Given the description of an element on the screen output the (x, y) to click on. 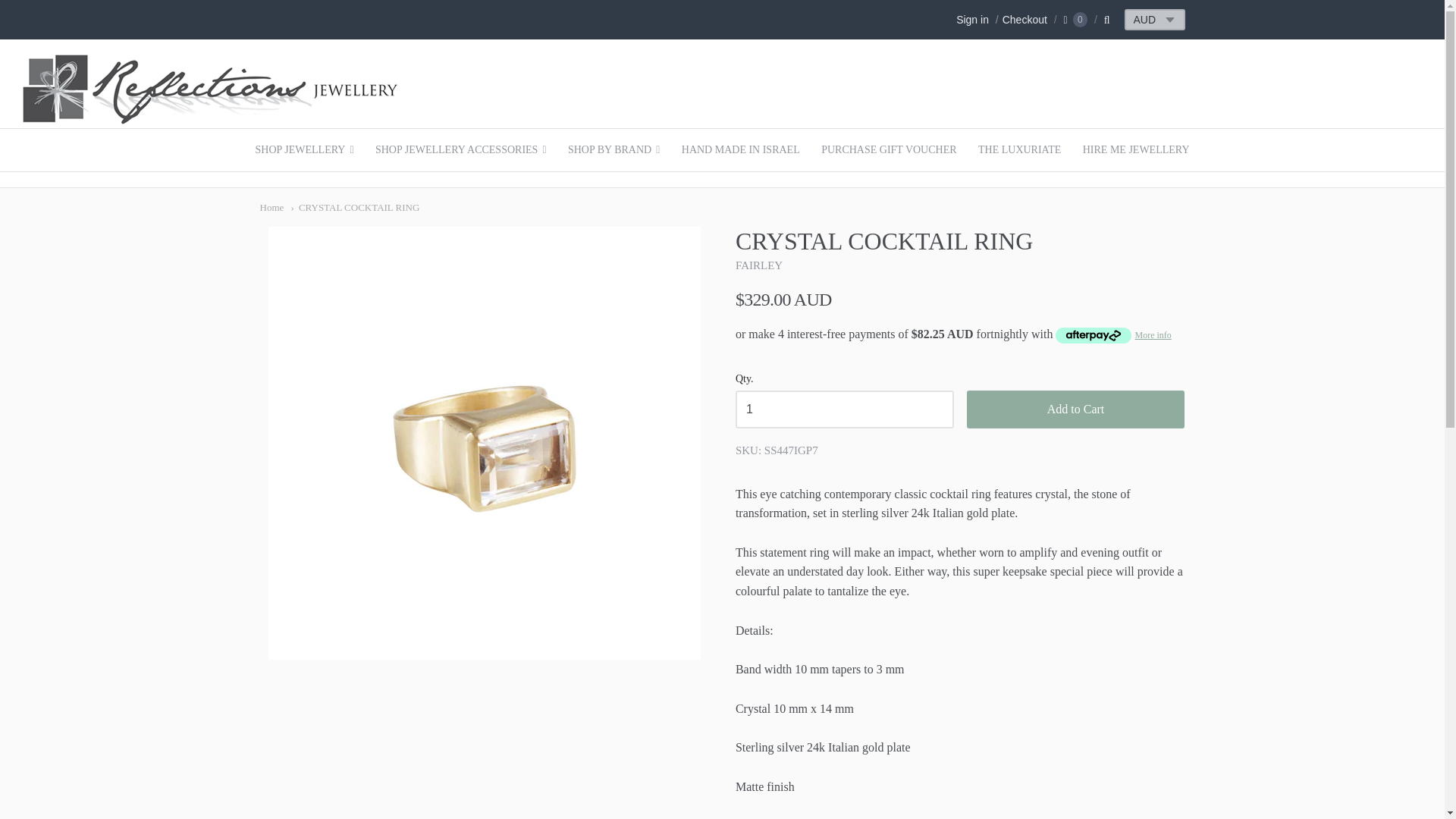
1 (844, 409)
CRYSTAL COCKTAIL RING (355, 206)
SHOP JEWELLERY (304, 149)
SHOP BY BRAND (613, 149)
SHOP JEWELLERY ACCESSORIES (461, 149)
HIRE ME JEWELLERY (1136, 149)
FAIRLEY (759, 265)
Checkout (1018, 19)
PURCHASE GIFT VOUCHER (888, 149)
THE LUXURIATE (1019, 149)
Sign in (972, 19)
Home (271, 206)
HAND MADE IN ISRAEL (740, 149)
0 (1075, 19)
Reflections Silver Jewellery (212, 118)
